Given the description of an element on the screen output the (x, y) to click on. 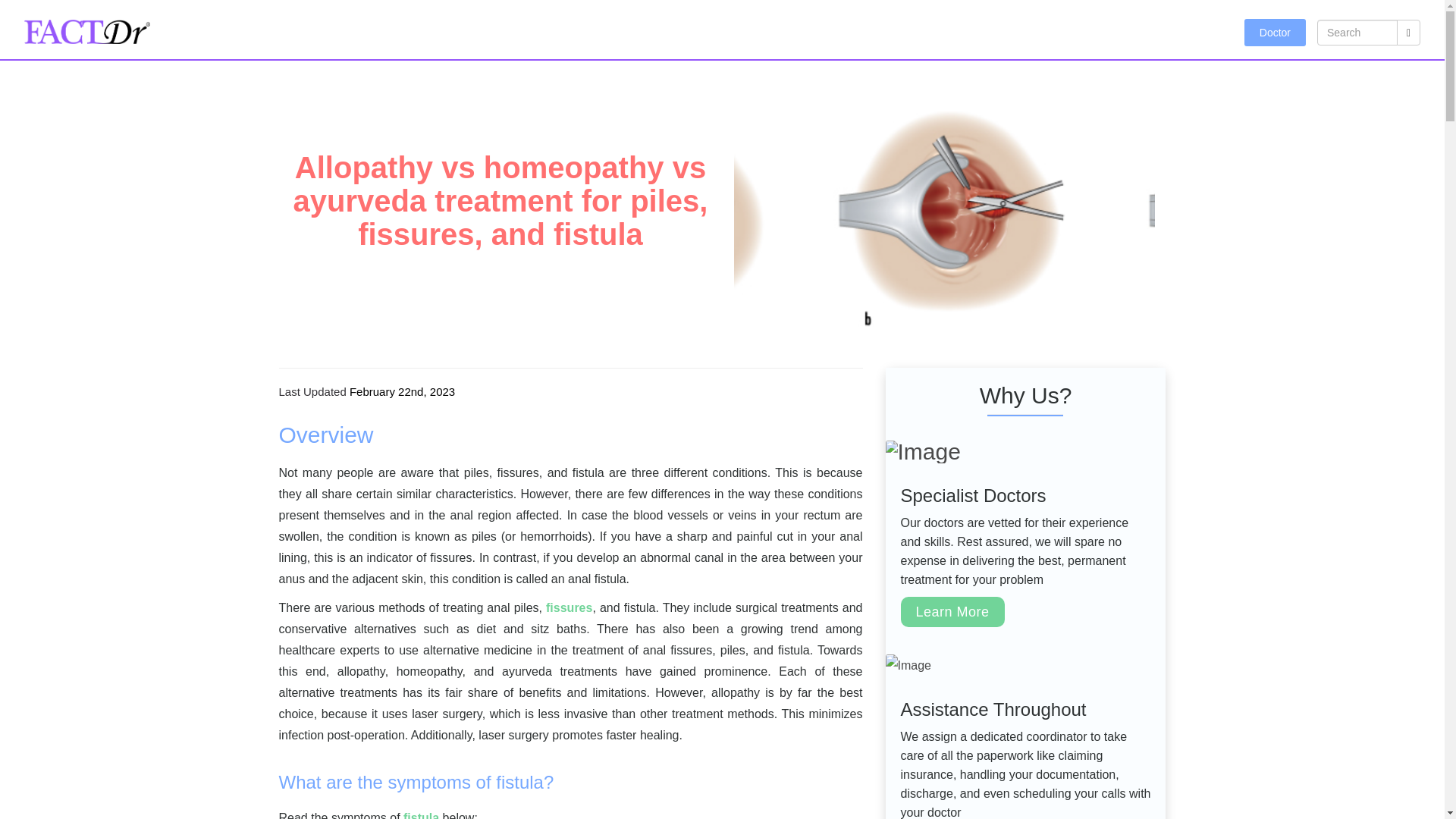
Doctor (1275, 31)
fissures (569, 607)
Learn More (952, 612)
fistula (421, 815)
